Given the description of an element on the screen output the (x, y) to click on. 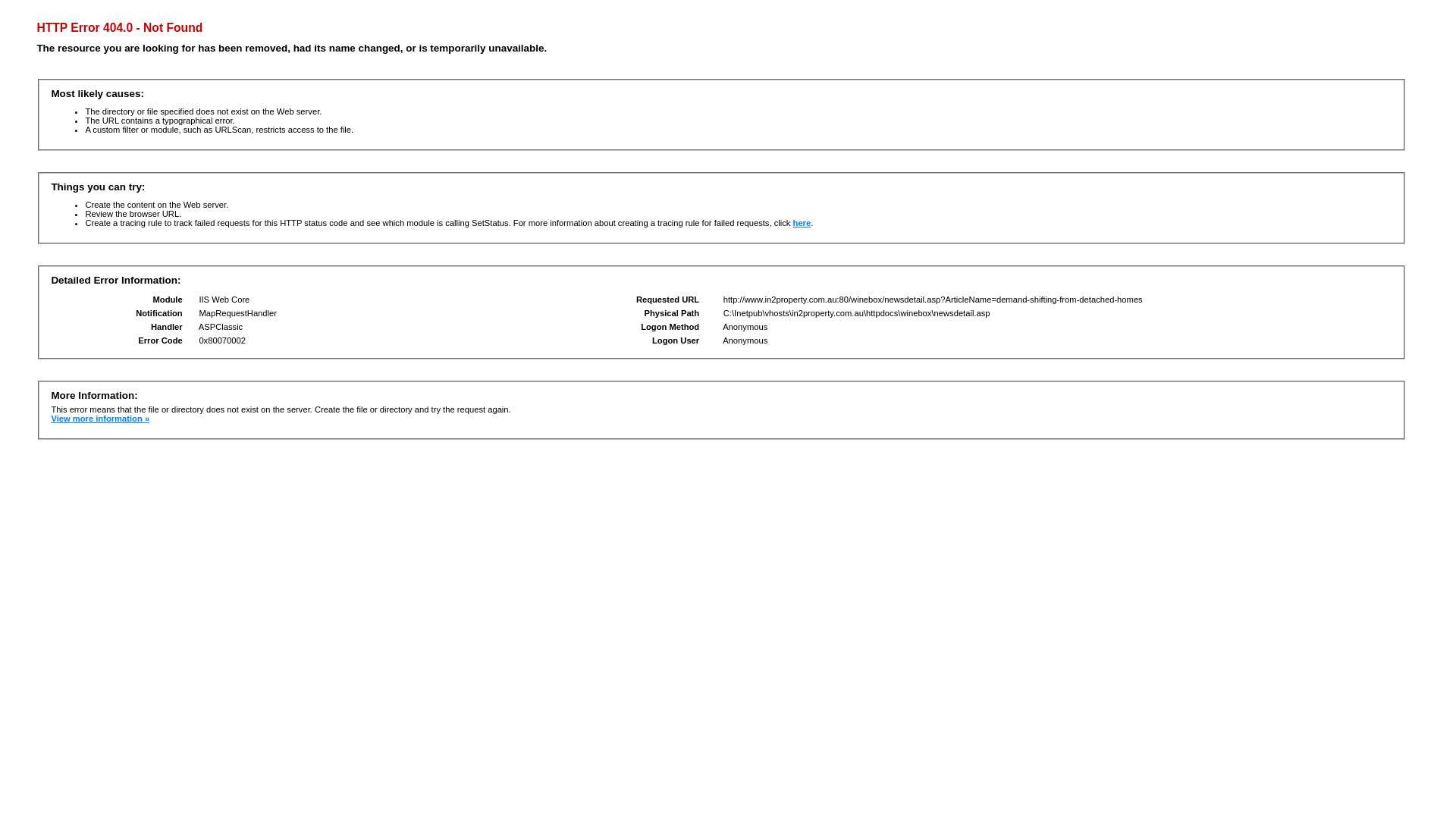
here Element type: text (802, 222)
